Given the description of an element on the screen output the (x, y) to click on. 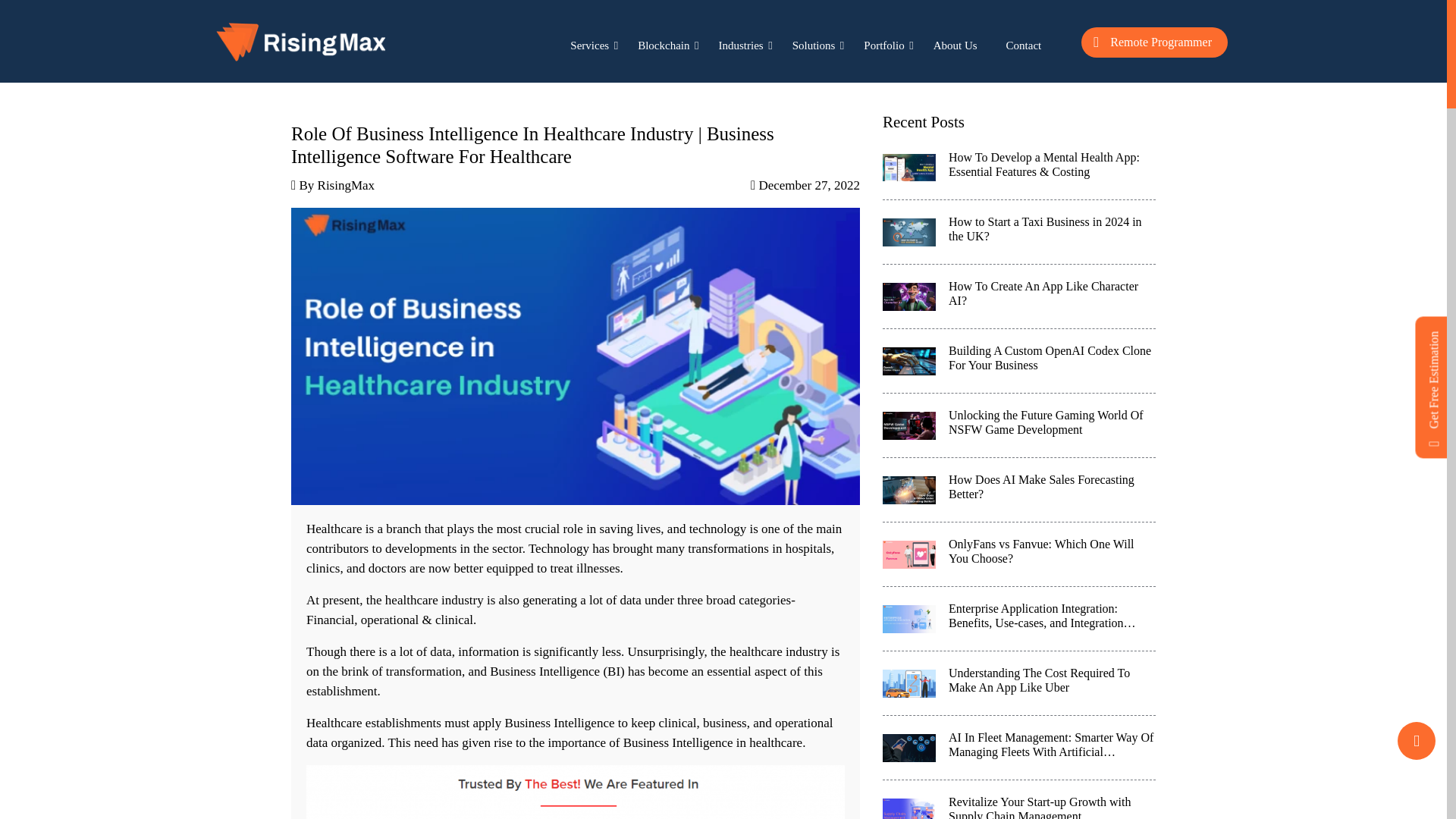
Services (589, 41)
OnlyFans vs Fanvue: Which One Will You Choose? (1019, 554)
How To Create An App Like Character AI? (1019, 296)
Unlocking the Future Gaming World Of NSFW Game Development (1019, 425)
Revitalize Your Start-up Growth with Supply Chain Management (1019, 799)
Understanding The Cost Required To Make An App Like Uber (1019, 683)
How to Start a Taxi Business in 2024 in the UK? (1019, 231)
Blockchain (663, 41)
